Given the description of an element on the screen output the (x, y) to click on. 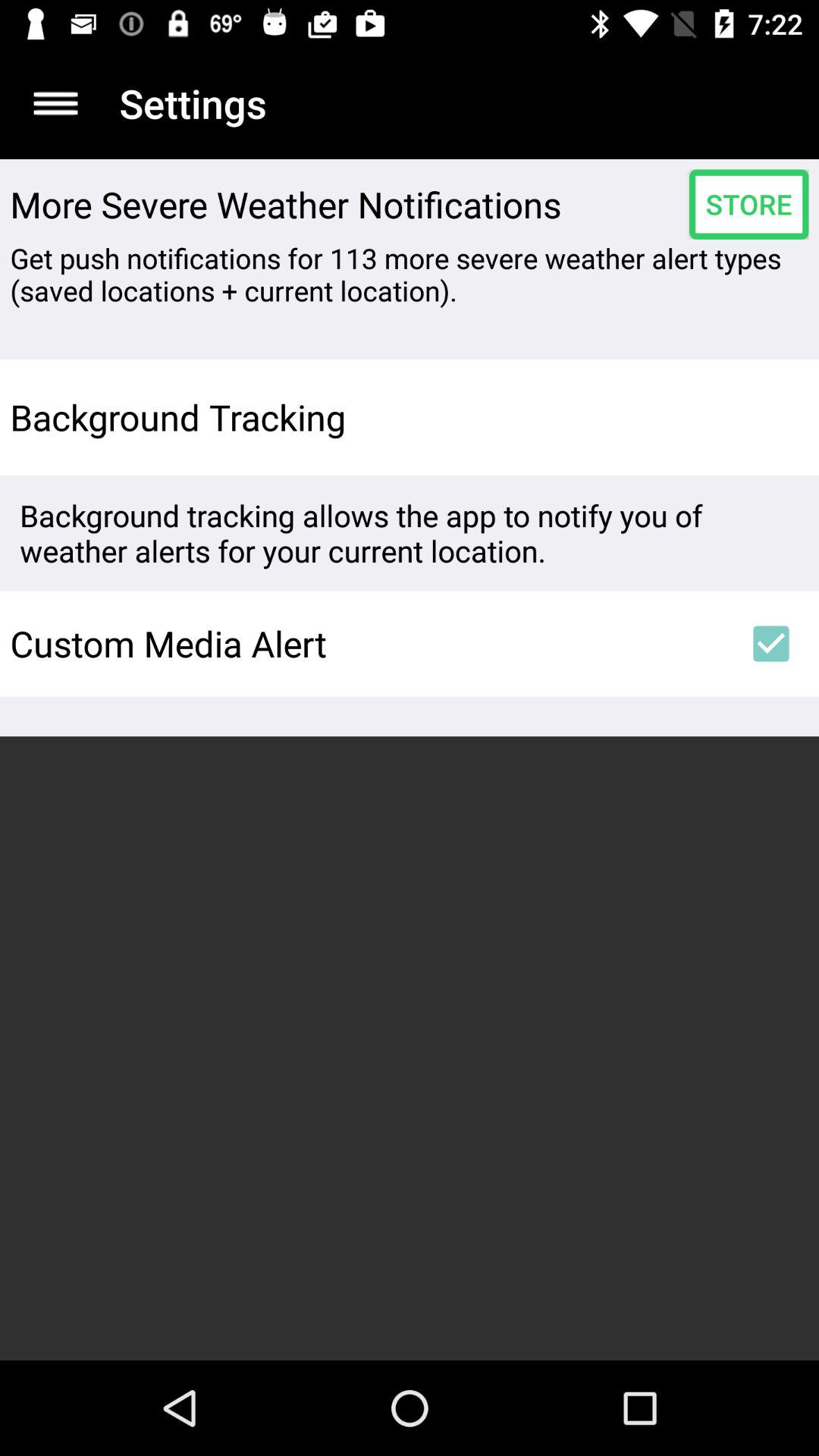
turn off the app to the left of settings app (55, 103)
